Given the description of an element on the screen output the (x, y) to click on. 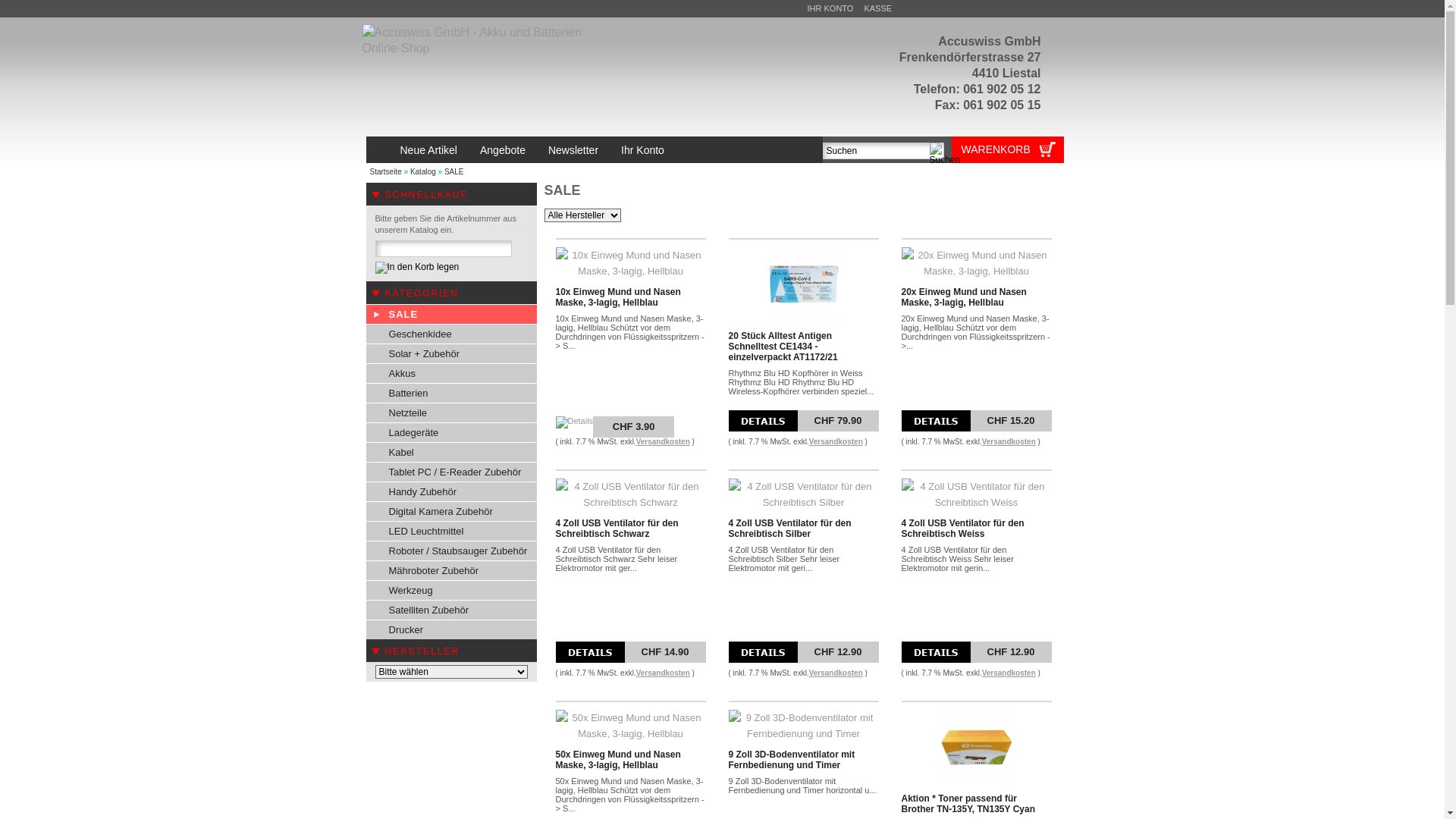
 Suchen  Element type: hover (944, 153)
Batterien Element type: text (450, 392)
SALE Element type: text (454, 171)
Akkus Element type: text (450, 373)
Newsletter Element type: text (572, 150)
WARENKORB Element type: text (1002, 146)
50x Einweg Mund und Nasen Maske, 3-lagig, Hellblau Element type: text (617, 759)
Kabel Element type: text (450, 451)
Versandkosten Element type: text (663, 672)
Versandkosten Element type: text (835, 441)
Versandkosten Element type: text (1008, 672)
9 Zoll 3D-Bodenventilator mit Fernbedienung und Timer Element type: text (791, 759)
10x Einweg Mund und Nasen Maske, 3-lagig, Hellblau Element type: text (617, 296)
Netzteile Element type: text (450, 412)
Neue Artikel Element type: text (427, 150)
Angebote Element type: text (502, 150)
Versandkosten Element type: text (835, 672)
Startseite Element type: text (385, 171)
SALE Element type: text (450, 313)
Geschenkidee Element type: text (450, 333)
KASSE Element type: text (877, 7)
Ihr Konto Element type: text (642, 150)
 In den Korb legen  Element type: hover (416, 267)
LED Leuchtmittel Element type: text (450, 530)
Versandkosten Element type: text (663, 441)
Katalog Element type: text (423, 171)
Drucker Element type: text (450, 629)
Werkzeug Element type: text (450, 589)
IHR KONTO Element type: text (829, 7)
20x Einweg Mund und Nasen Maske, 3-lagig, Hellblau Element type: text (963, 296)
Versandkosten Element type: text (1008, 441)
